Given the description of an element on the screen output the (x, y) to click on. 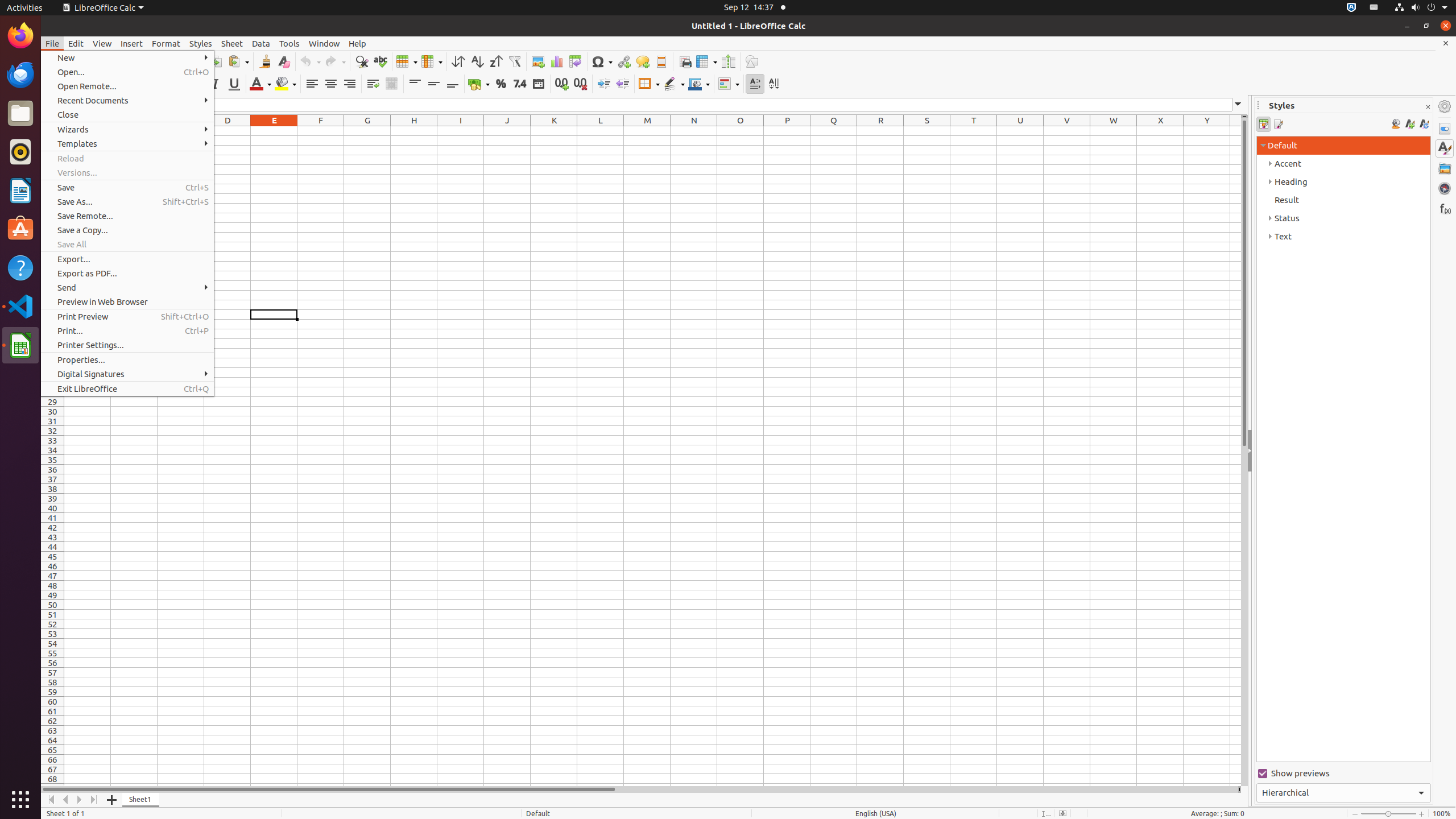
N1 Element type: table-cell (693, 130)
Exit LibreOffice Element type: menu-item (126, 388)
Align Top Element type: push-button (414, 83)
Wrap Text Element type: push-button (372, 83)
Send Element type: menu (126, 287)
